Given the description of an element on the screen output the (x, y) to click on. 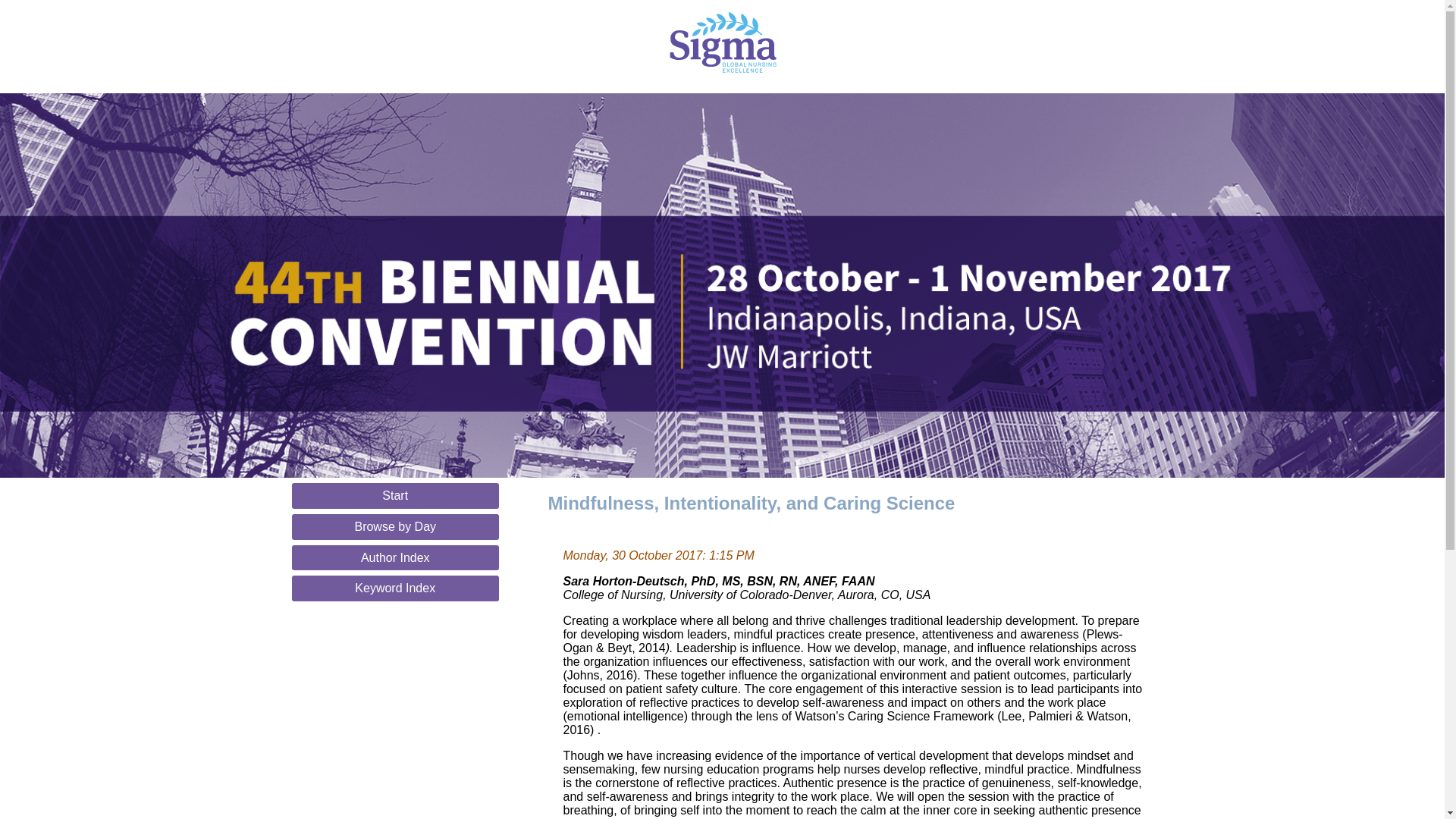
Browse by Day (395, 526)
Keyword Index (395, 588)
Author Index (395, 557)
Start (395, 495)
